Given the description of an element on the screen output the (x, y) to click on. 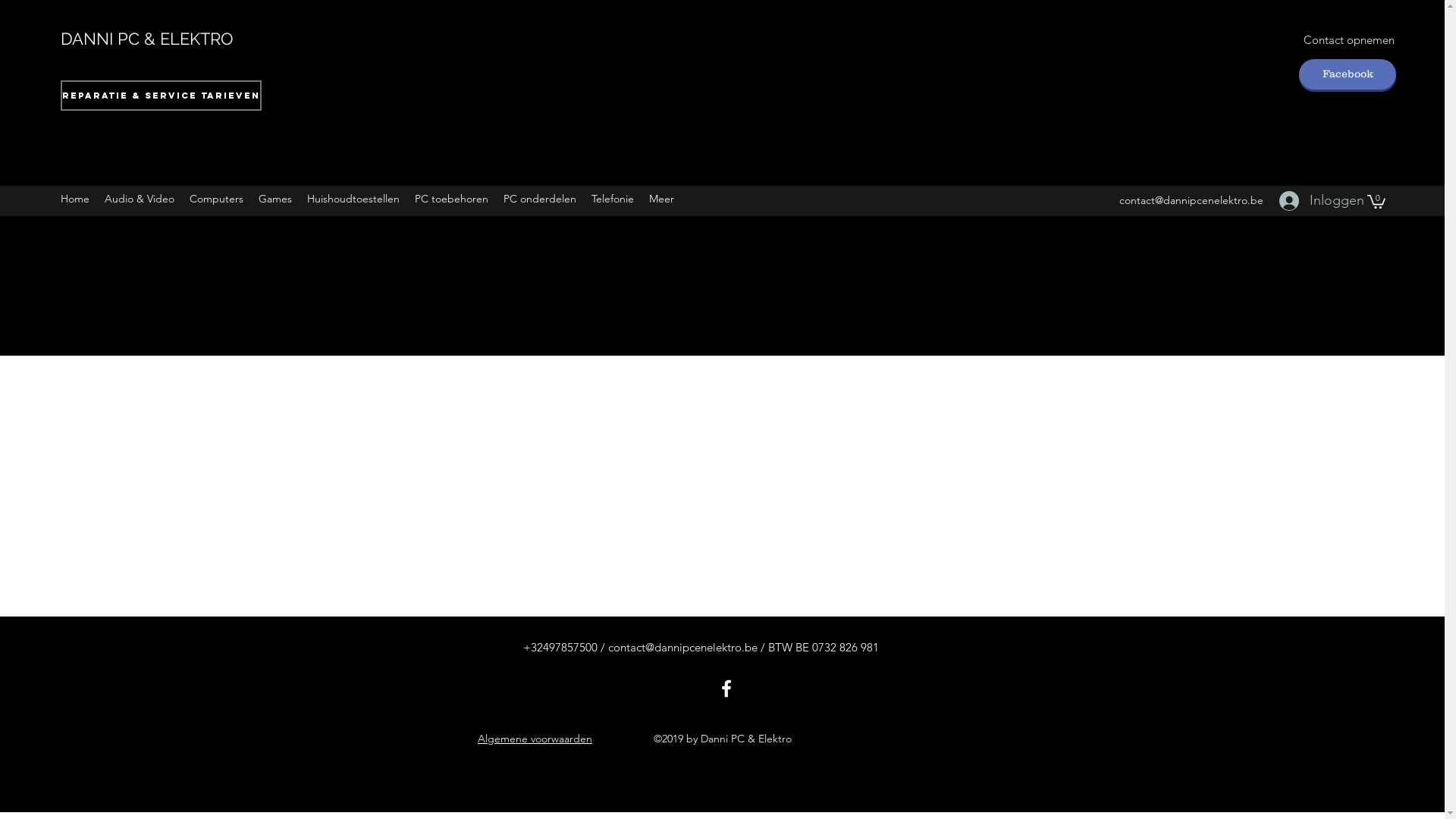
DANNI PC & ELEKTRO Element type: text (146, 38)
Algemene voorwaarden Element type: text (534, 738)
Facebook Element type: text (1347, 74)
contact@dannipcenelektro.be Element type: text (682, 647)
Reparatie & Service tarieven Element type: text (160, 95)
contact@dannipcenelektro.be Element type: text (1191, 200)
0 Element type: text (1376, 200)
Inloggen Element type: text (1313, 200)
Home Element type: text (75, 200)
Contact opnemen Element type: text (1348, 40)
